Given the description of an element on the screen output the (x, y) to click on. 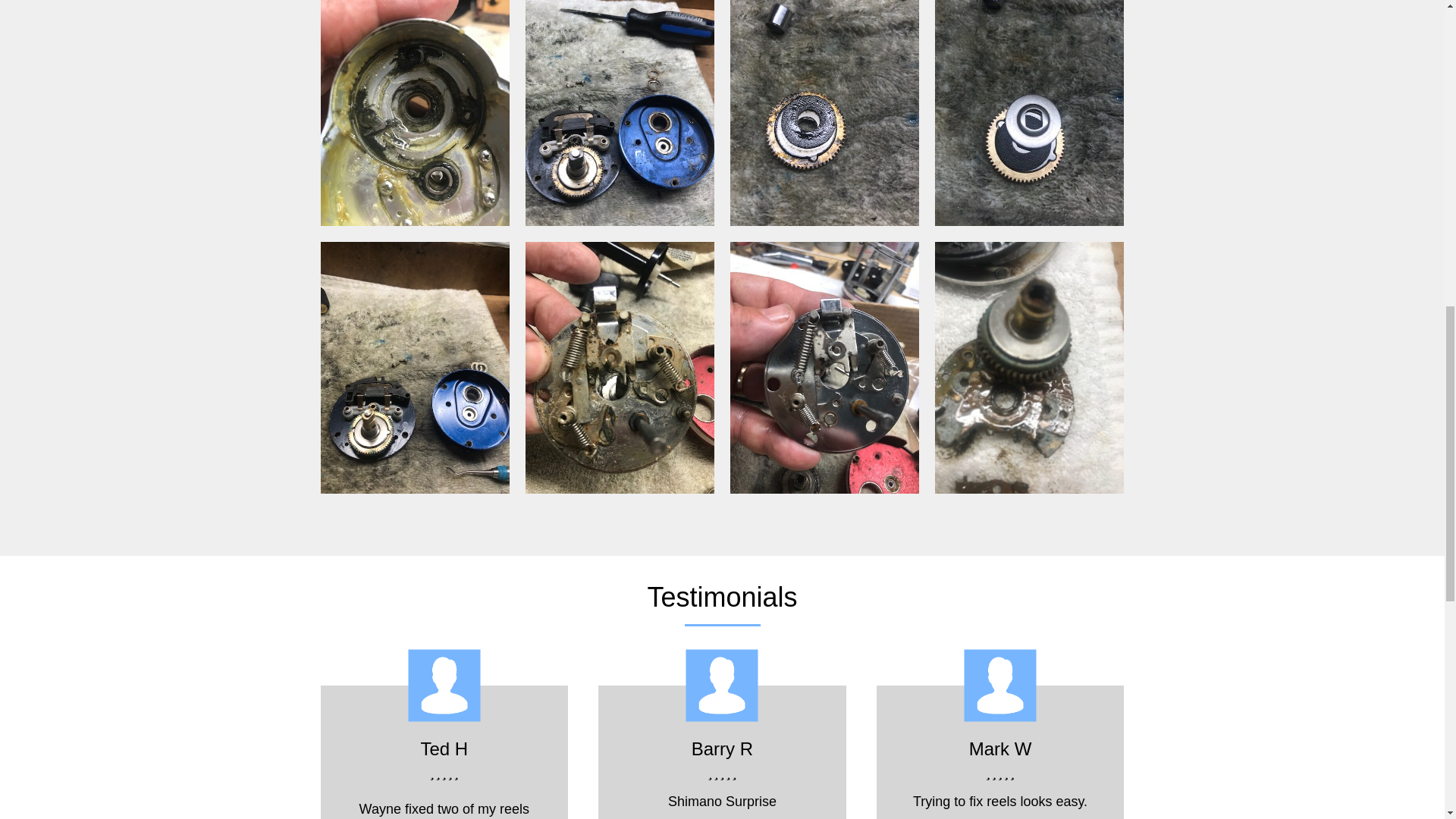
guest-xxl1 (443, 685)
